Given the description of an element on the screen output the (x, y) to click on. 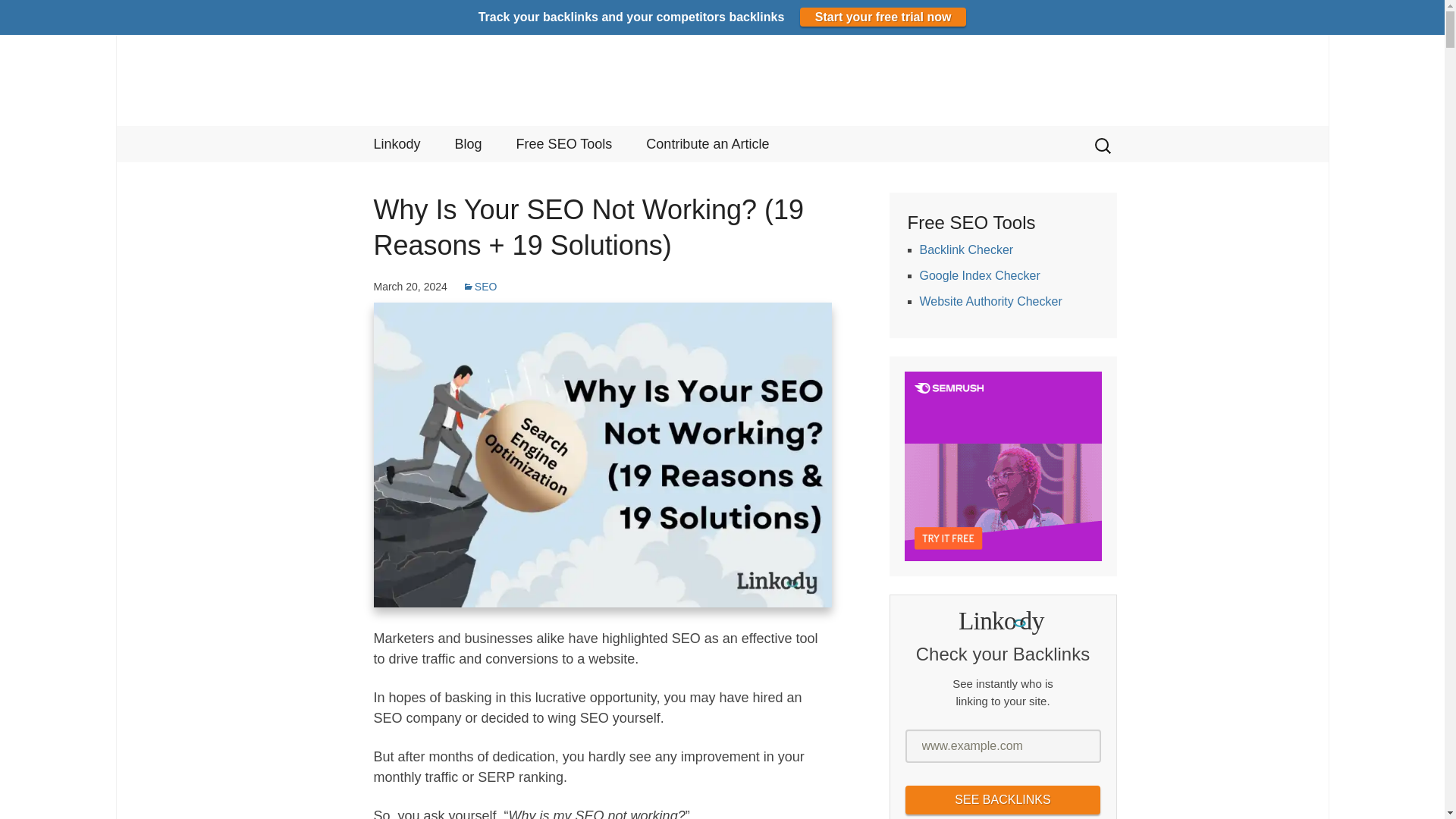
Blog (468, 144)
Contribute an Article (707, 144)
Start your free trial now (882, 16)
Linkody (396, 144)
Free SEO Tools (563, 144)
Skip to content (722, 80)
SEO (396, 144)
Search (480, 286)
